Given the description of an element on the screen output the (x, y) to click on. 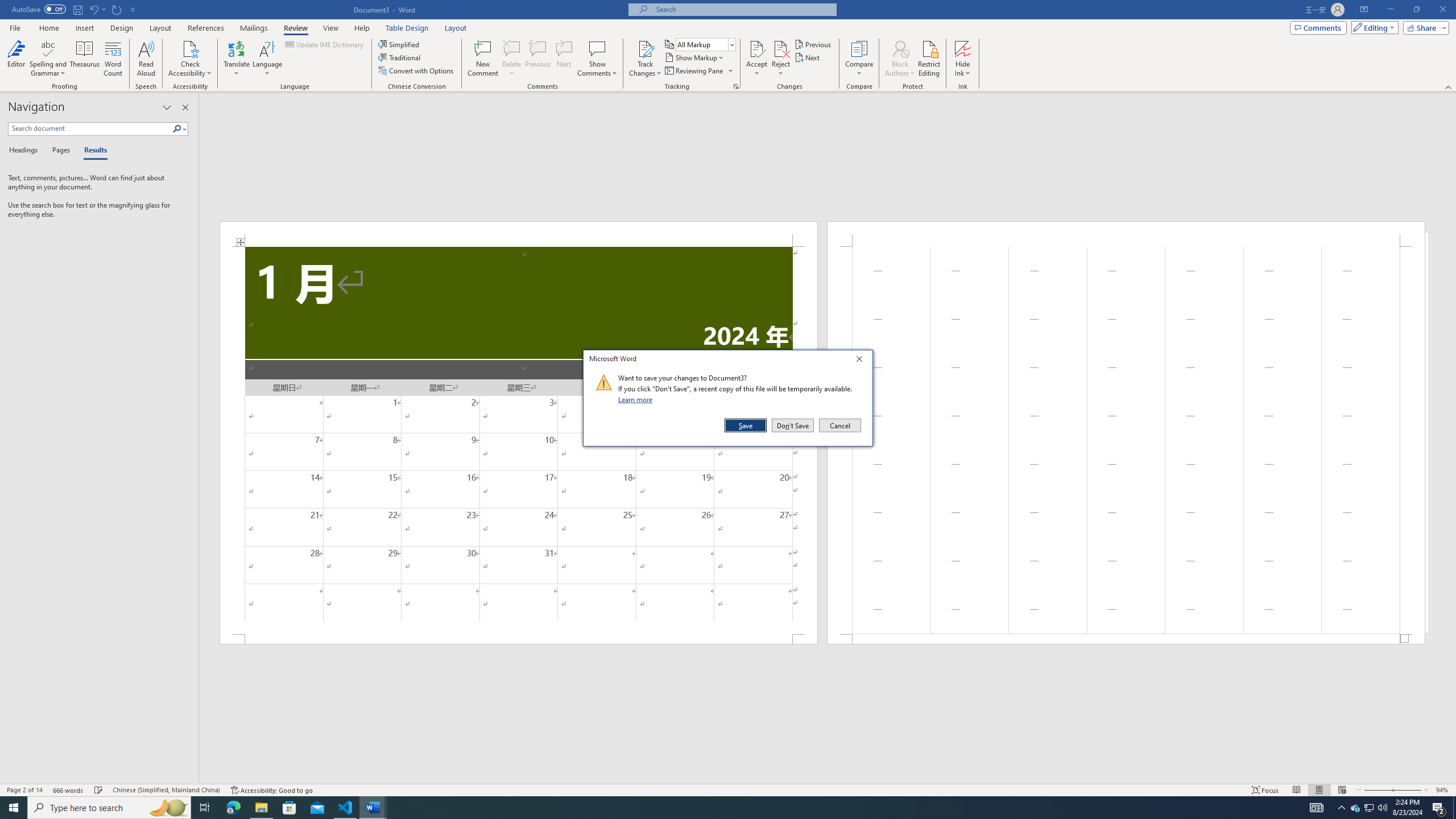
Reviewing Pane (694, 69)
Simplified (400, 44)
Block Authors (900, 58)
